Given the description of an element on the screen output the (x, y) to click on. 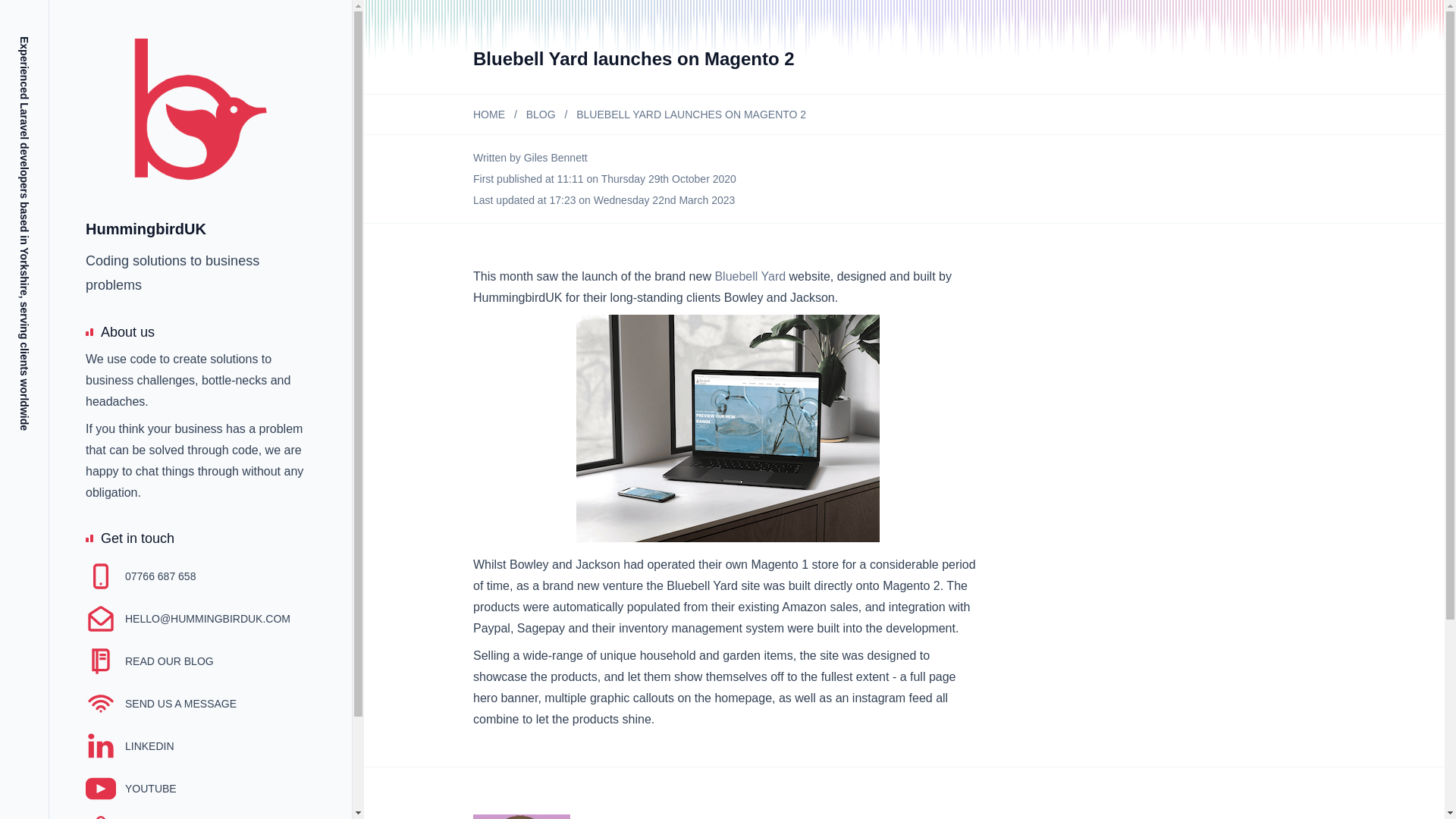
ATOM FEED (135, 817)
SEND US A MESSAGE (160, 703)
Bluebell Yard (750, 276)
YOUTUBE (130, 788)
LINKEDIN (129, 746)
READ OUR BLOG (149, 661)
07766 687 658 (140, 576)
HOME (489, 114)
BLOG (540, 114)
